Given the description of an element on the screen output the (x, y) to click on. 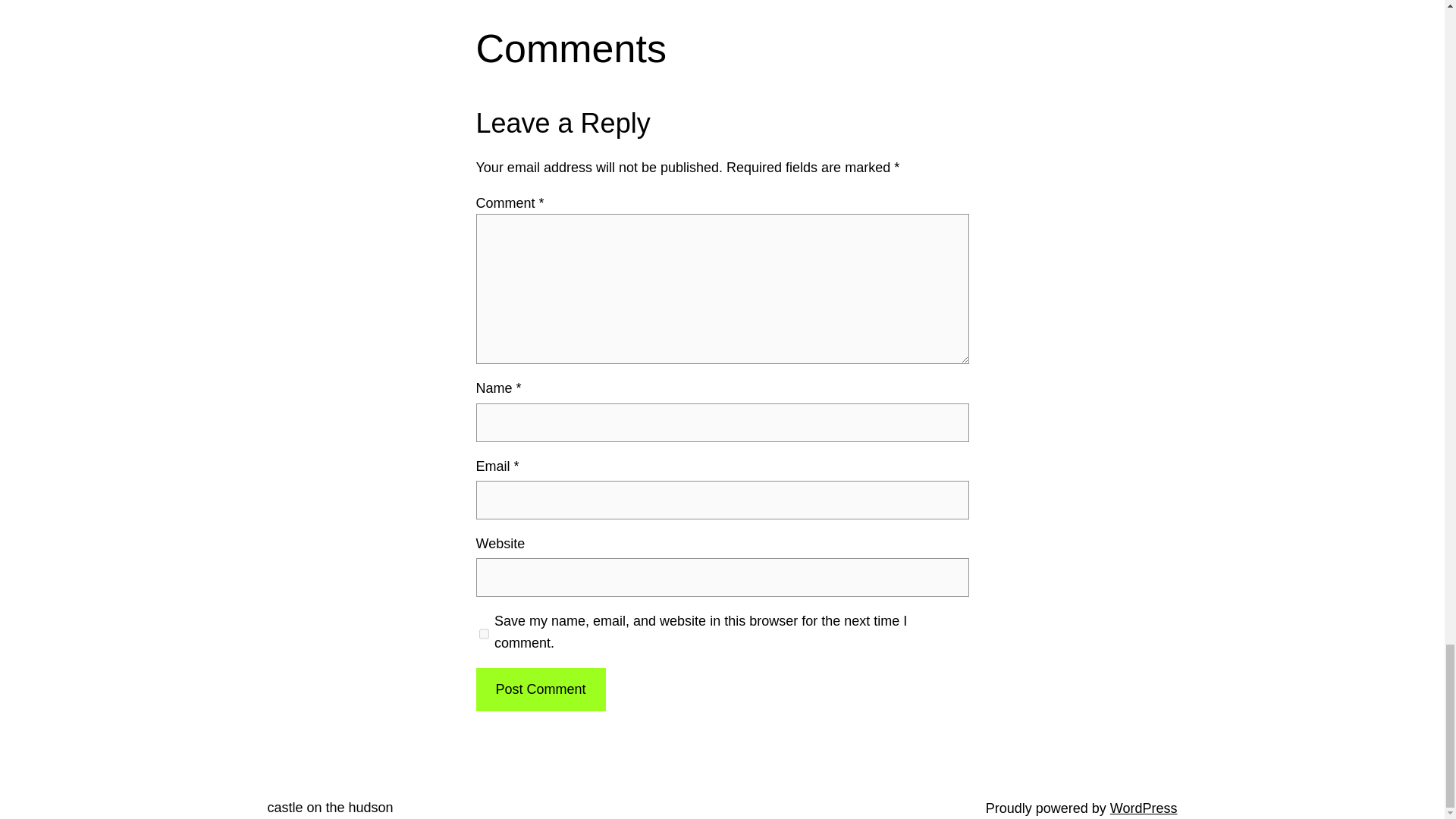
Post Comment (540, 689)
WordPress (1143, 807)
castle on the hudson (329, 807)
Post Comment (540, 689)
